Given the description of an element on the screen output the (x, y) to click on. 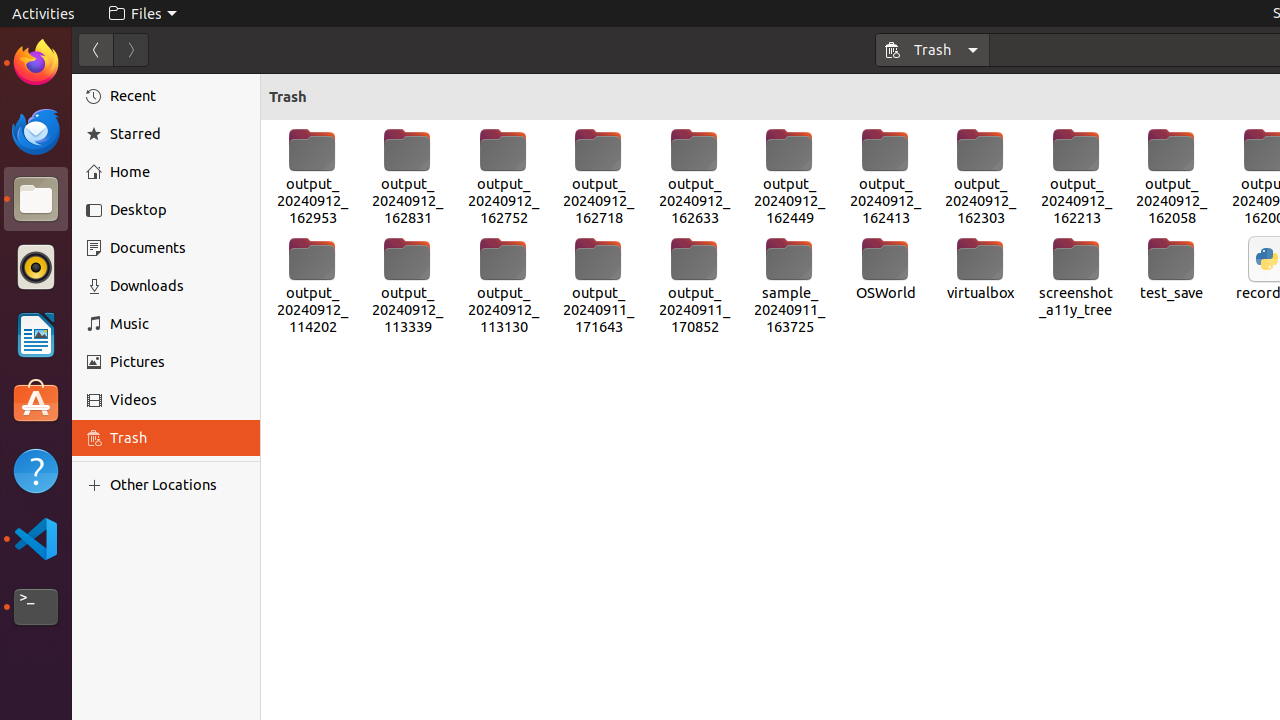
Add Element type: icon (98, 485)
Documents Element type: label (178, 247)
Home Element type: label (178, 172)
sample_20240911_163725 Element type: canvas (790, 286)
